Given the description of an element on the screen output the (x, y) to click on. 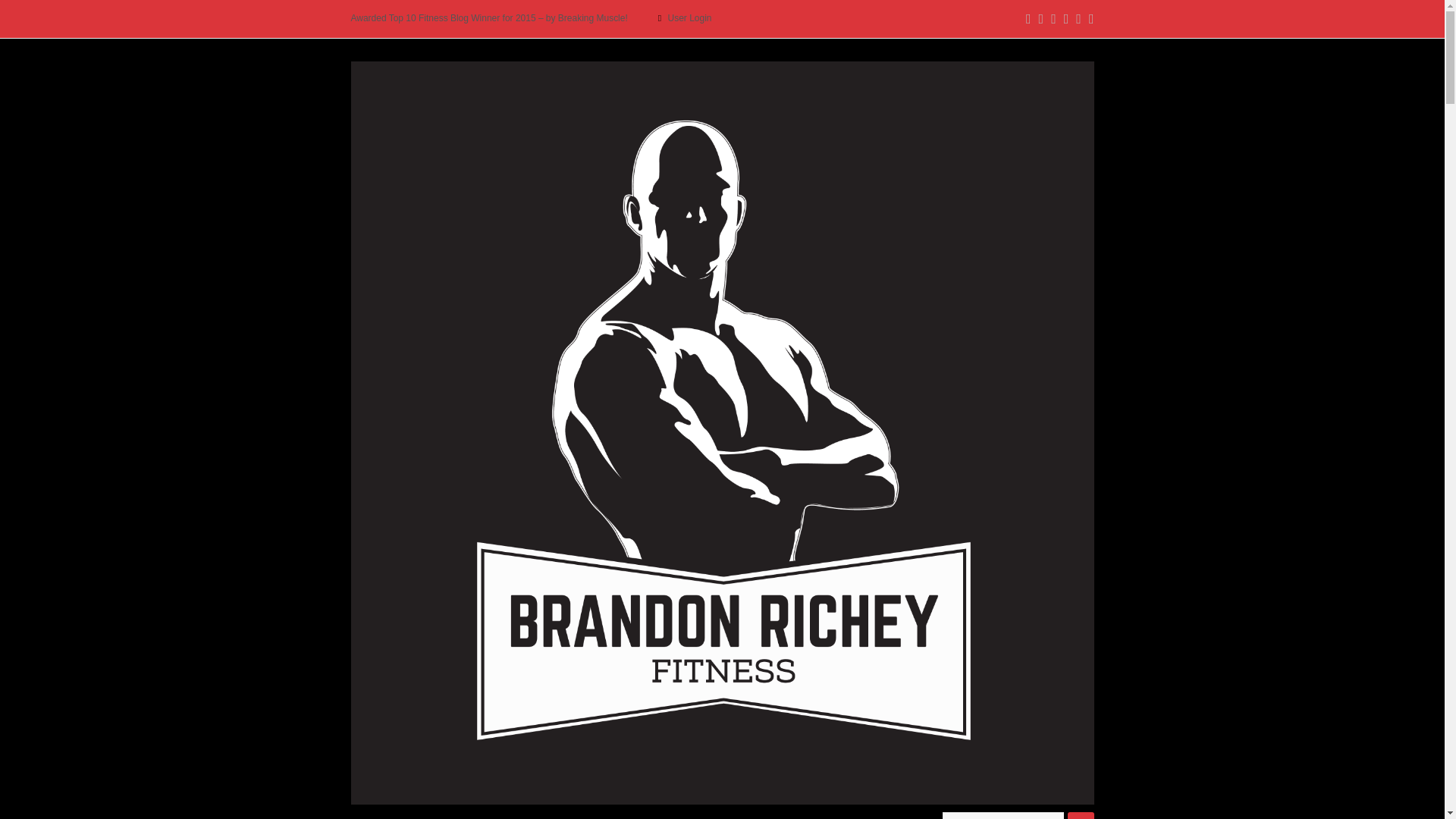
User Login (689, 18)
User Login (689, 18)
search (1002, 815)
search (1002, 815)
